Given the description of an element on the screen output the (x, y) to click on. 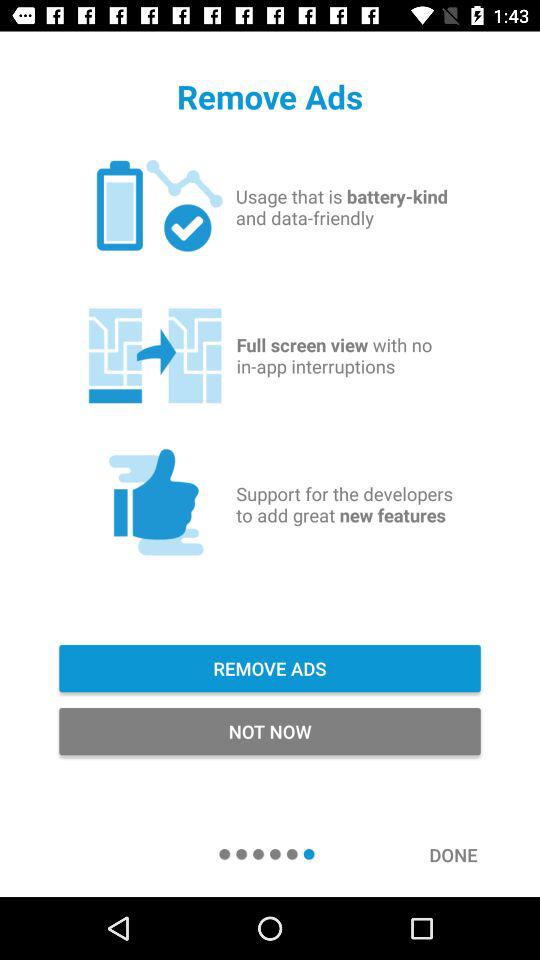
launch the done (463, 854)
